Given the description of an element on the screen output the (x, y) to click on. 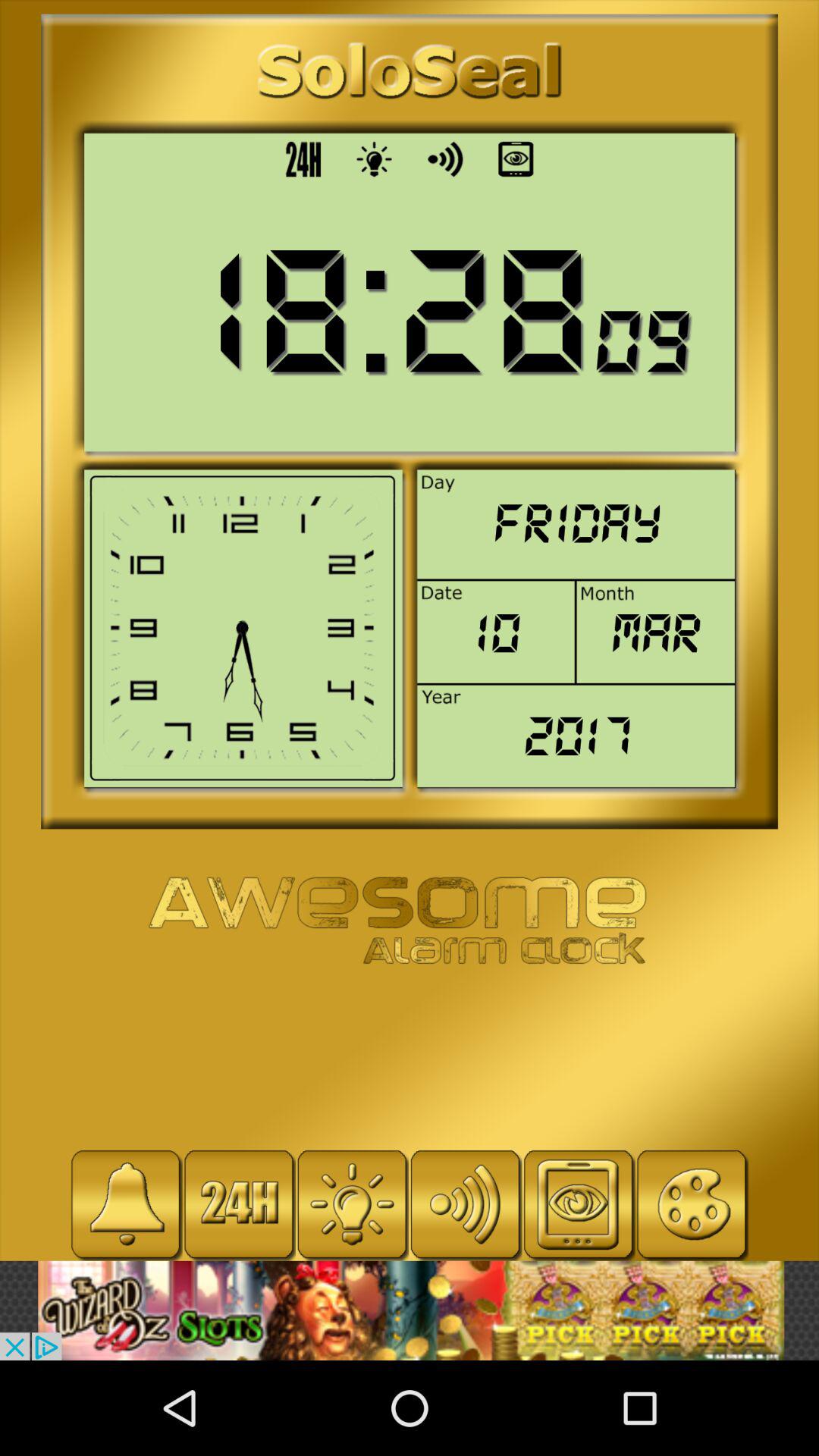
keep screen awakw (578, 1203)
